Given the description of an element on the screen output the (x, y) to click on. 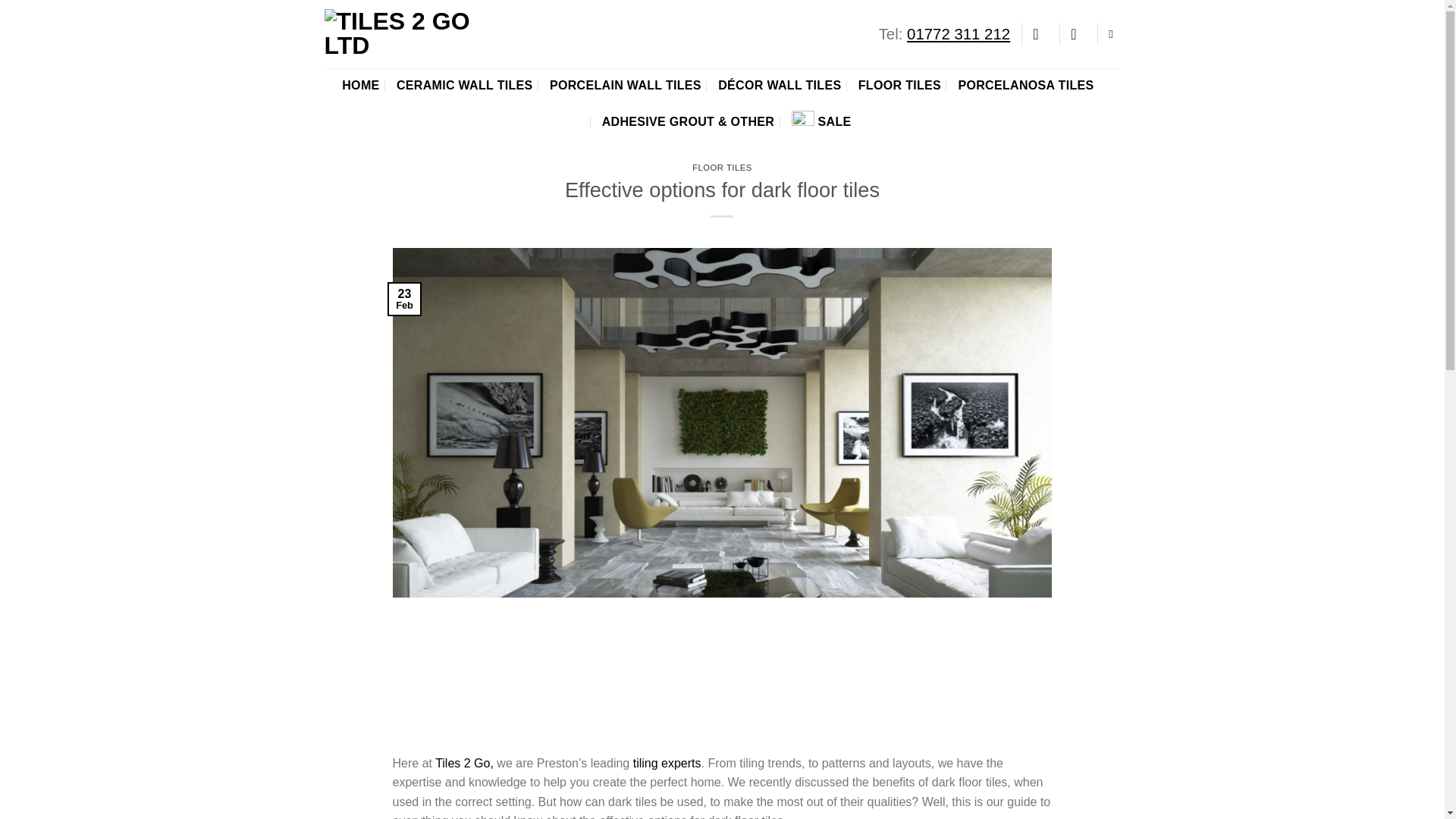
Tiles 2 Go, (464, 762)
Tiles 2 Go Ltd - Buy all types of tiles online at Tiles 2 Go (400, 33)
PORCELANOSA TILES (1025, 85)
HOME (360, 85)
tiling experts (664, 762)
SALE (821, 121)
01772 311 212 (958, 33)
FLOOR TILES (722, 166)
PORCELAIN WALL TILES (625, 85)
FLOOR TILES (899, 85)
CERAMIC WALL TILES (464, 85)
